Given the description of an element on the screen output the (x, y) to click on. 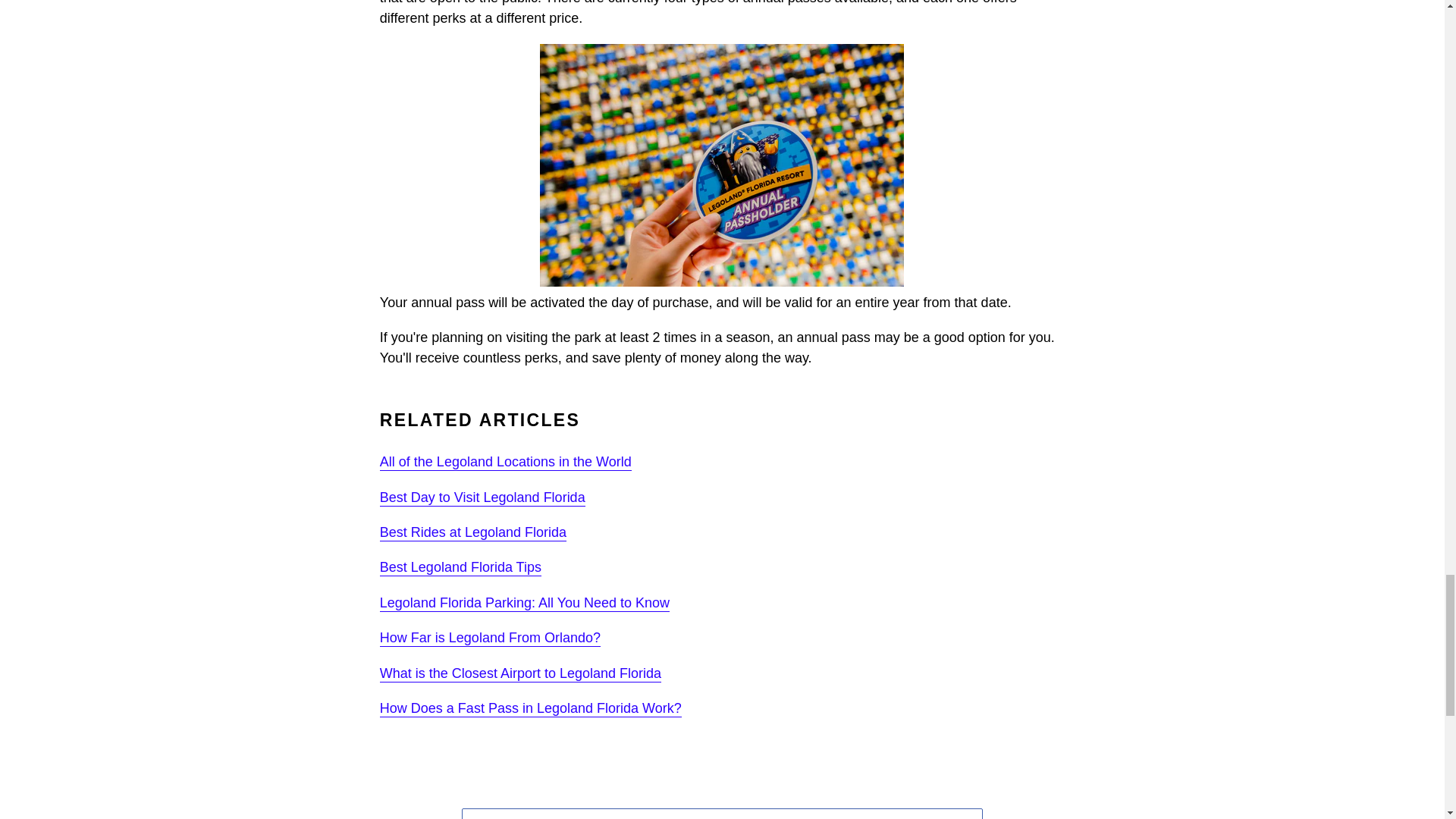
legoland florida tips (460, 567)
legoland florida parking (524, 603)
legoland locations (505, 462)
best day to visit legoland florida (482, 497)
fast pass legoland florida (530, 709)
best rides at legoland florida (473, 532)
closest airport to legoland florida (520, 673)
how far is legoland from orlando (489, 638)
